Given the description of an element on the screen output the (x, y) to click on. 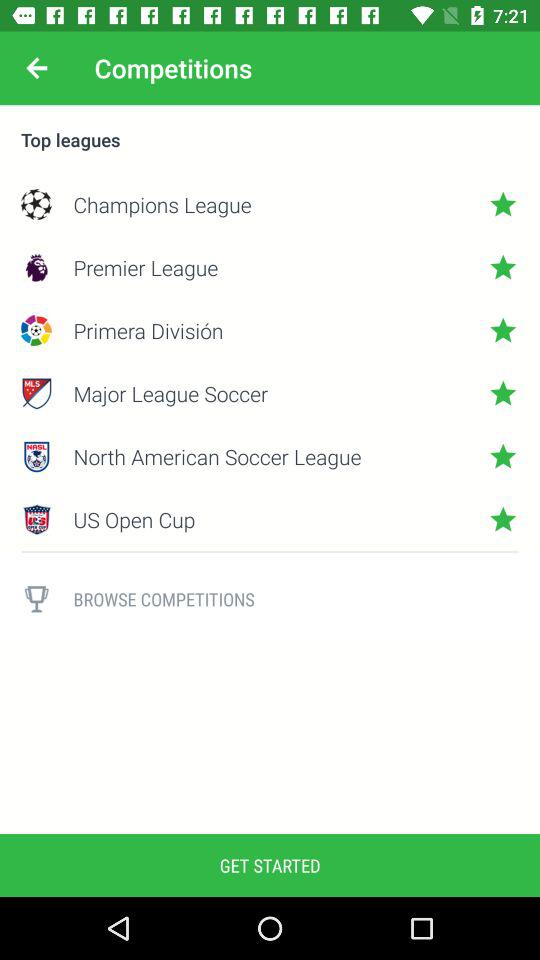
press champions league item (269, 204)
